Given the description of an element on the screen output the (x, y) to click on. 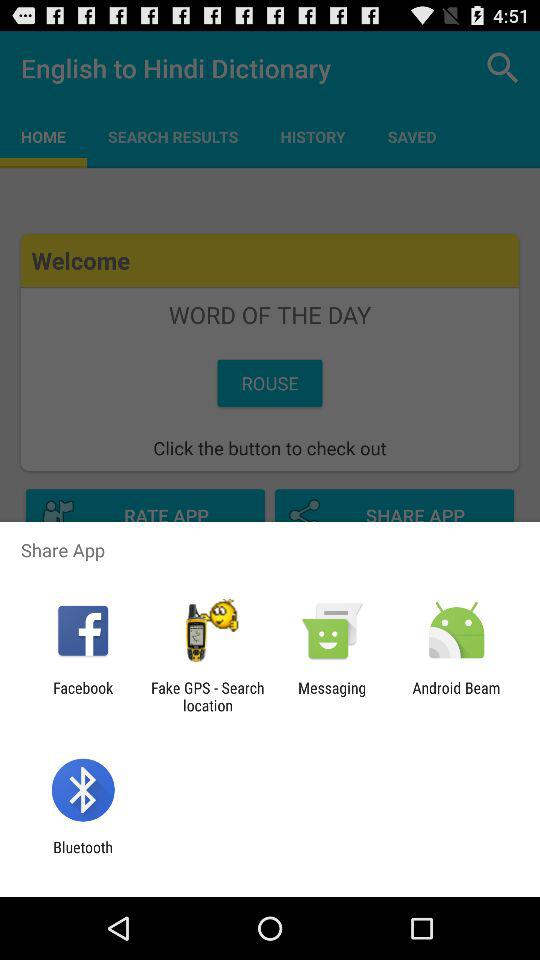
turn off android beam item (456, 696)
